Given the description of an element on the screen output the (x, y) to click on. 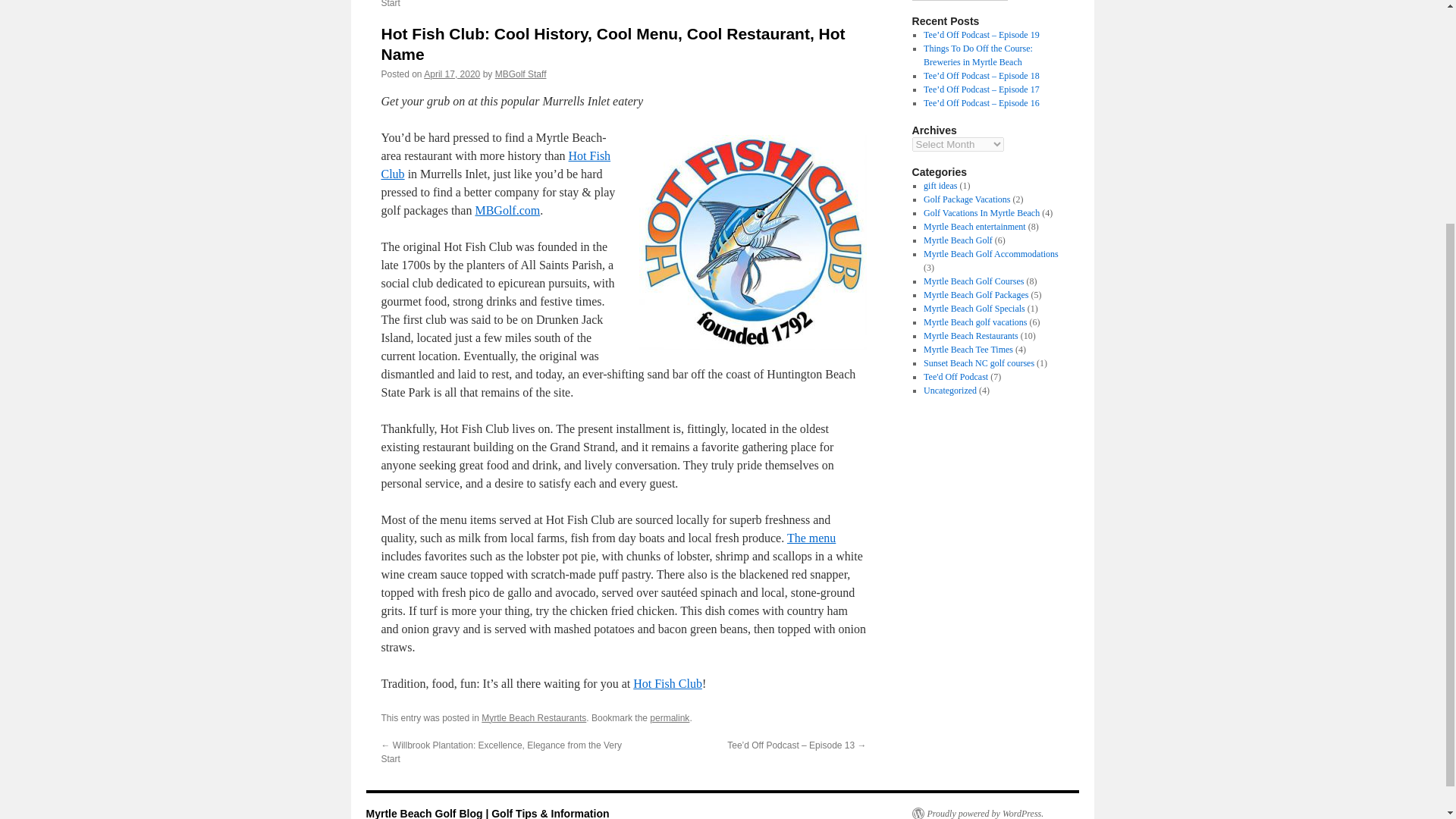
Myrtle Beach Restaurants (970, 335)
Golf Vacations In Myrtle Beach (981, 213)
10:26 am (451, 73)
Myrtle Beach Golf Specials (974, 308)
MBGolf Staff (521, 73)
Tee'd Off Podcast (955, 376)
Myrtle Beach golf vacations (974, 321)
Myrtle Beach Tee Times (968, 348)
Myrtle Beach Golf Courses (973, 281)
Myrtle Beach entertainment (974, 226)
Hot Fish Club (667, 683)
Myrtle Beach Golf (957, 240)
Myrtle Beach Golf Accommodations (990, 253)
April 17, 2020 (451, 73)
Hot Fish Club (495, 164)
